Given the description of an element on the screen output the (x, y) to click on. 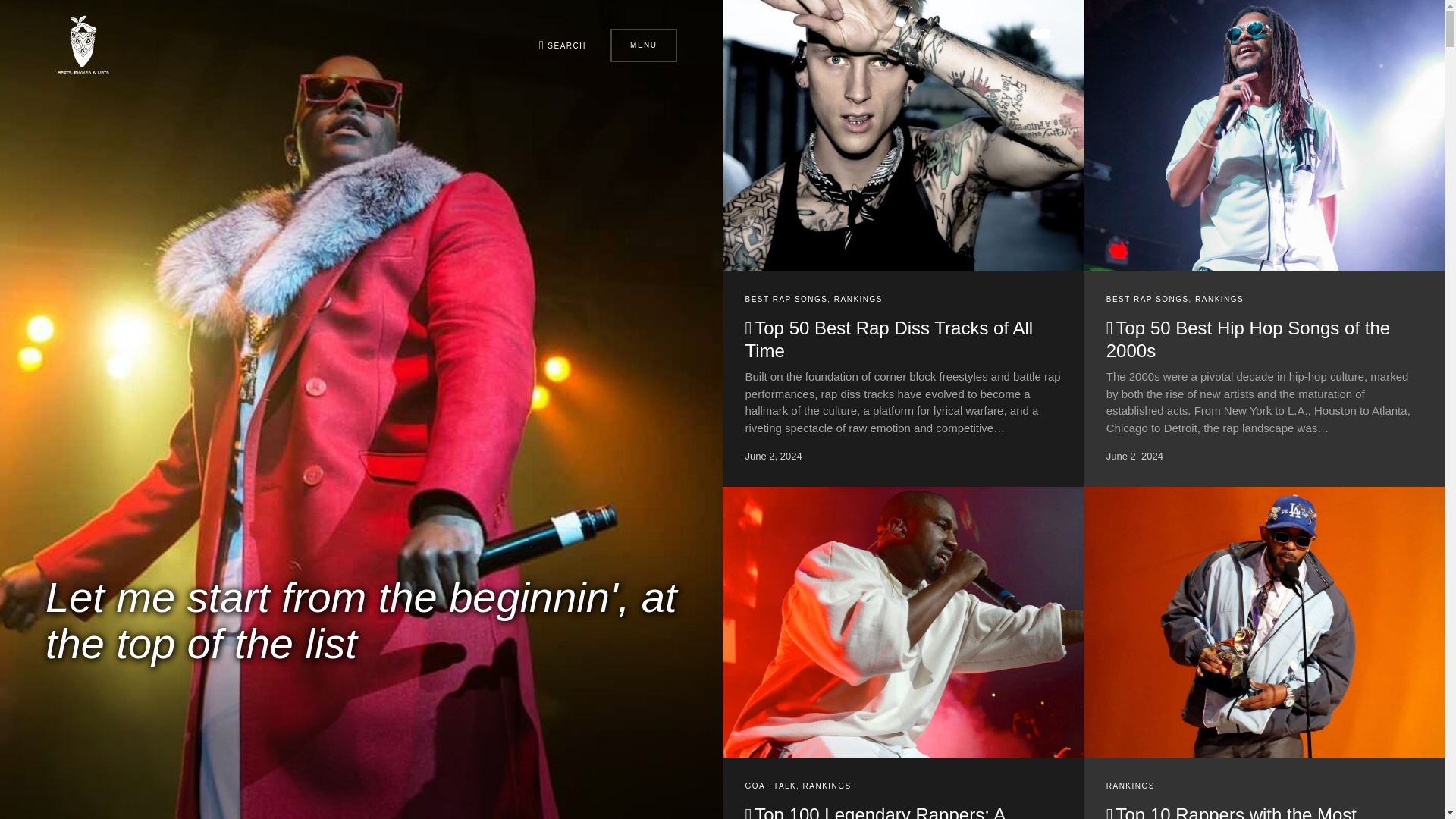
RANKINGS (858, 298)
BEST RAP SONGS (785, 298)
Top 50 Best Rap Diss Tracks of All Time (888, 339)
